Given the description of an element on the screen output the (x, y) to click on. 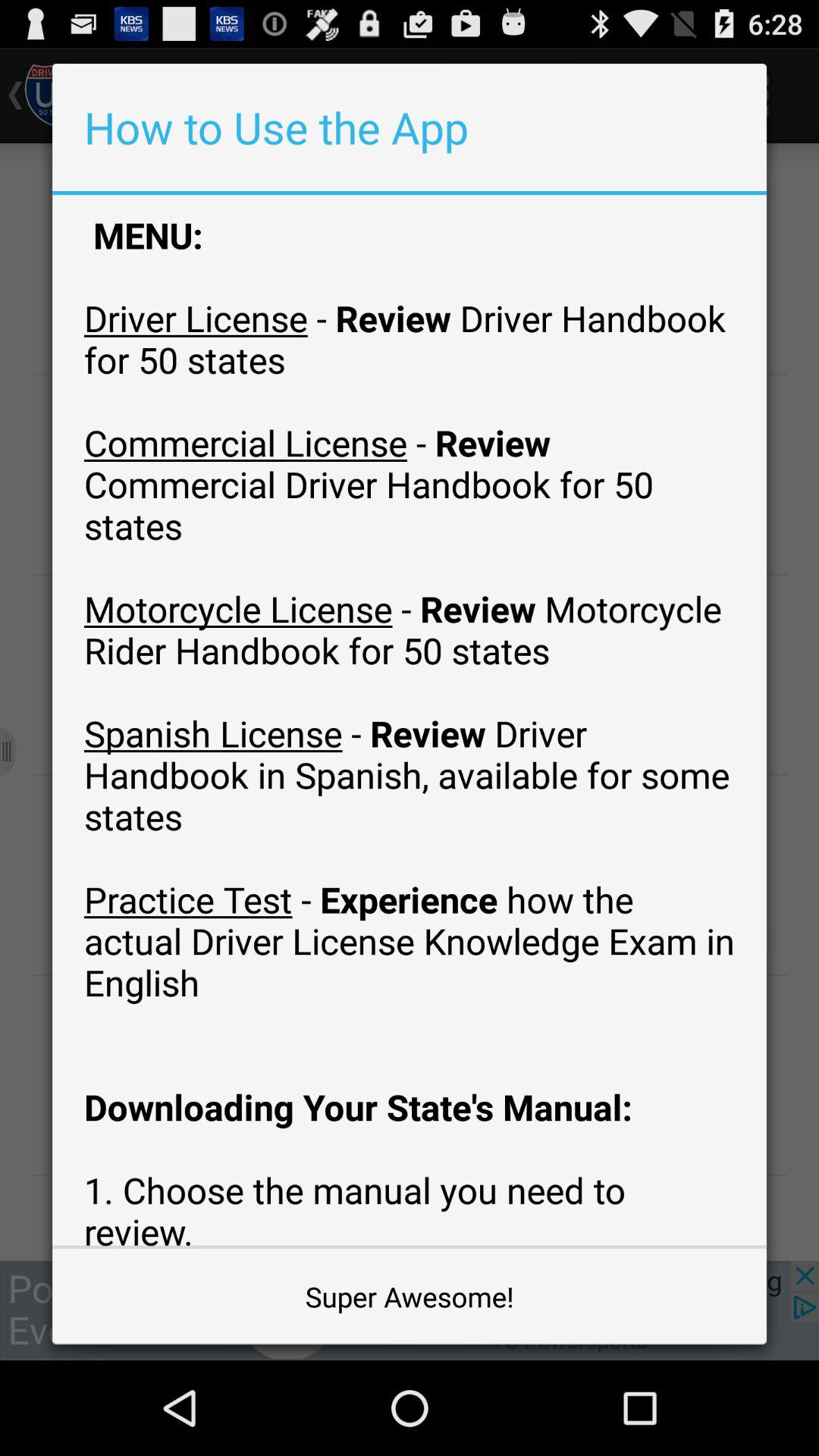
turn on super awesome! at the bottom (409, 1296)
